Given the description of an element on the screen output the (x, y) to click on. 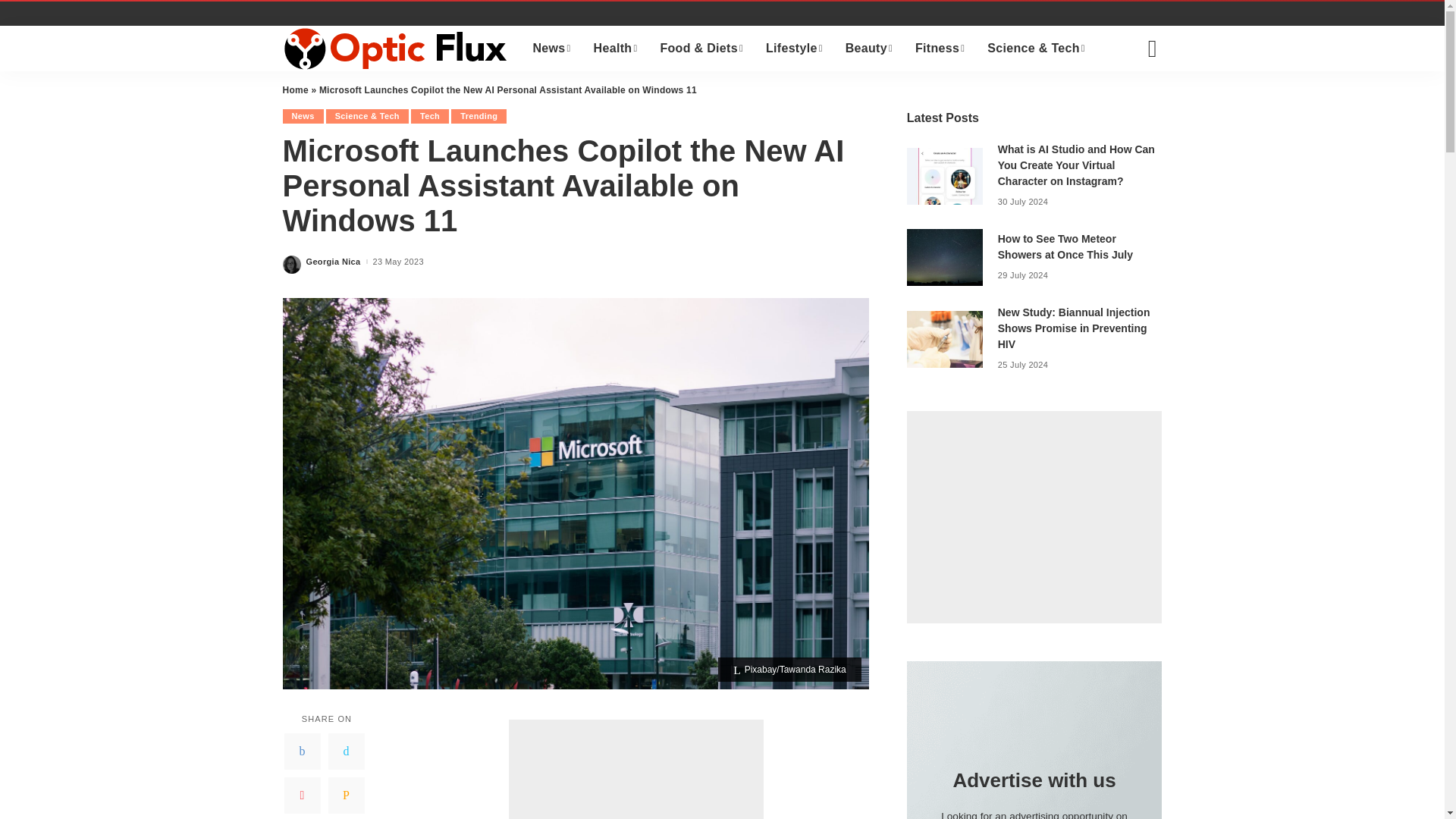
Twitter (345, 751)
Optic Flux (395, 48)
Facebook (301, 751)
